Given the description of an element on the screen output the (x, y) to click on. 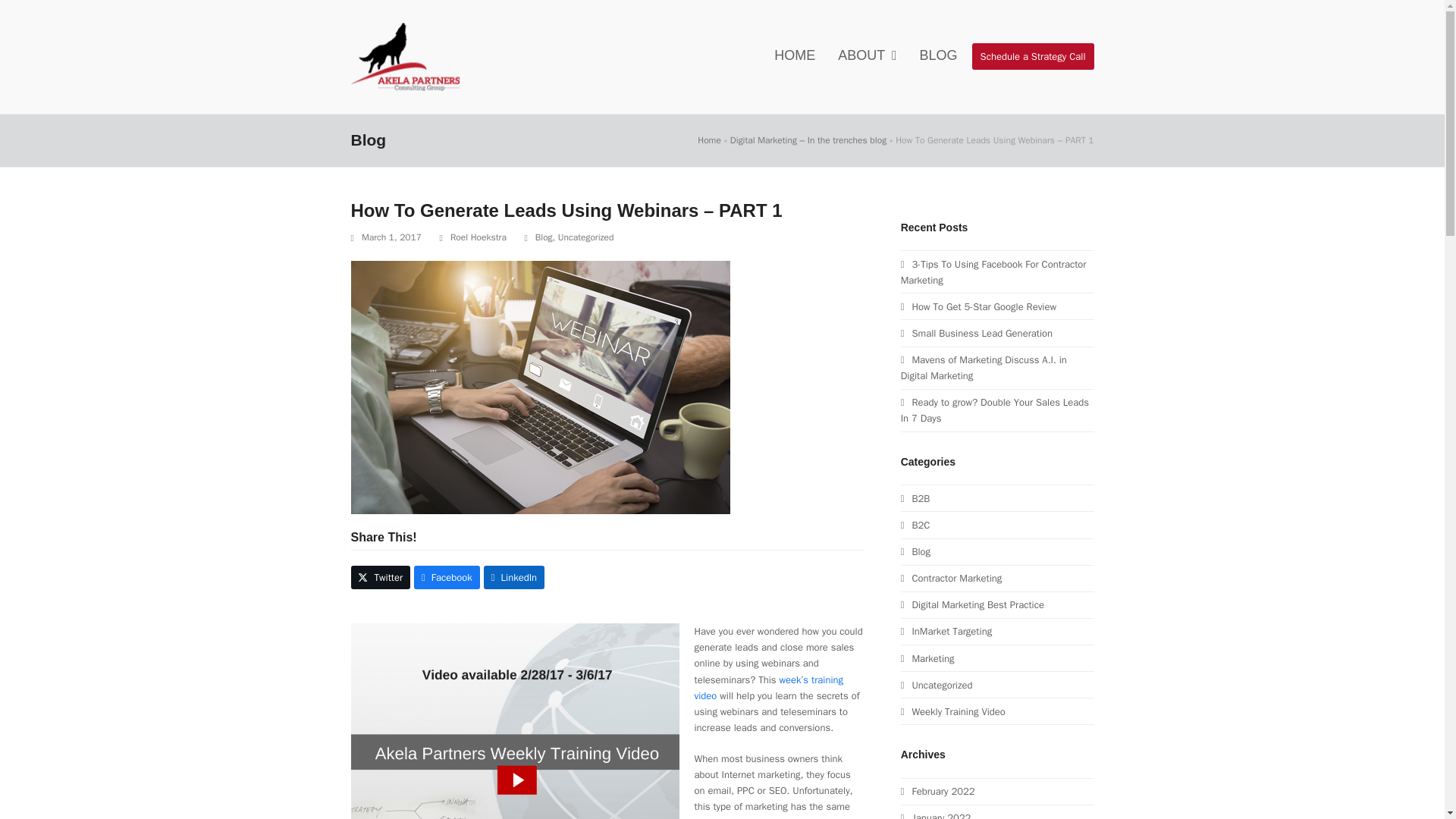
Blog (544, 236)
Blog (915, 551)
Roel Hoekstra (477, 236)
B2B (915, 498)
Twitter (380, 576)
BLOG (938, 56)
Home (708, 140)
Ready to grow? Double Your Sales Leads In 7 Days (995, 410)
Facebook (446, 576)
HOME (794, 56)
